Given the description of an element on the screen output the (x, y) to click on. 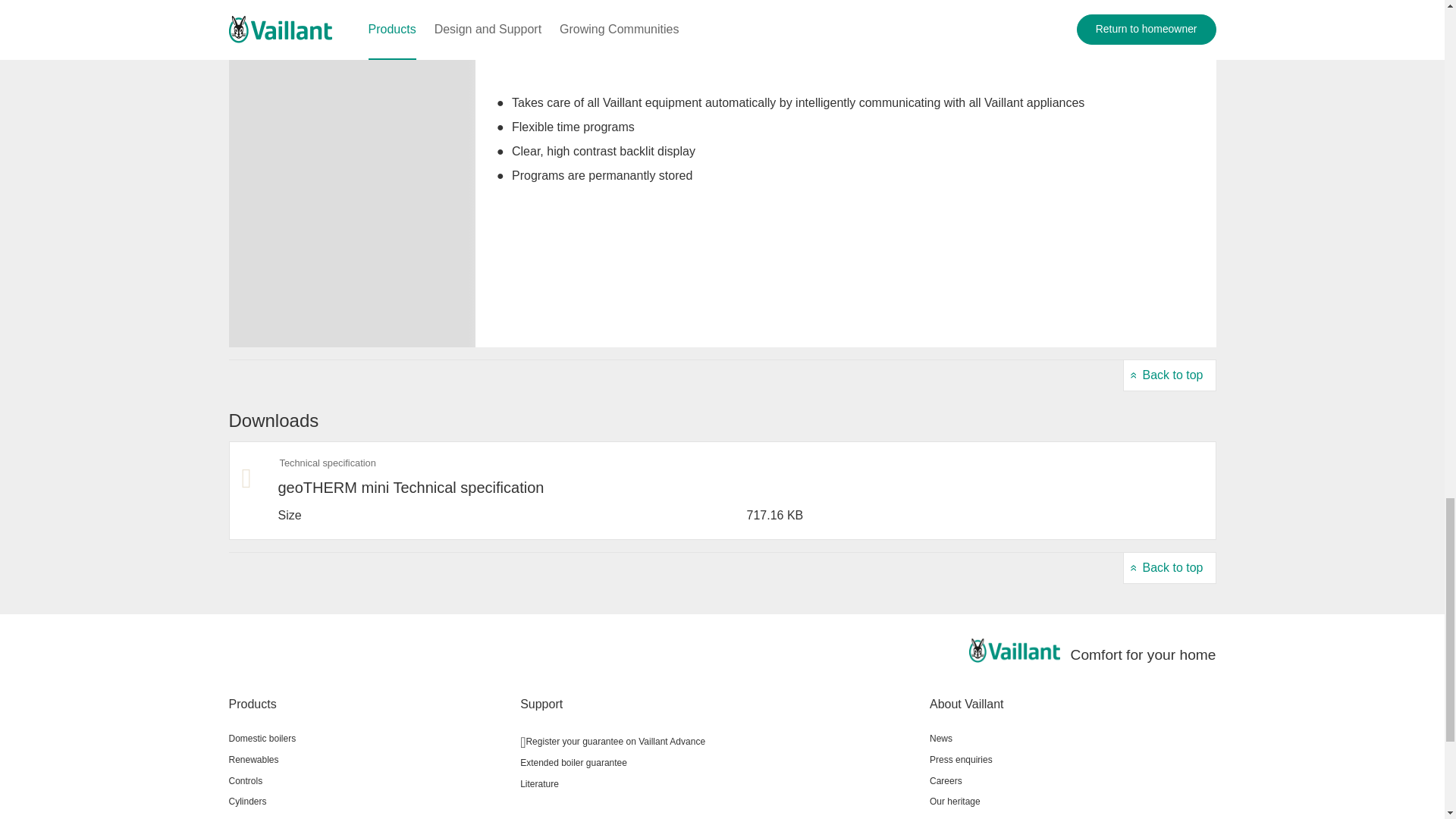
Vaillant (1015, 650)
